Given the description of an element on the screen output the (x, y) to click on. 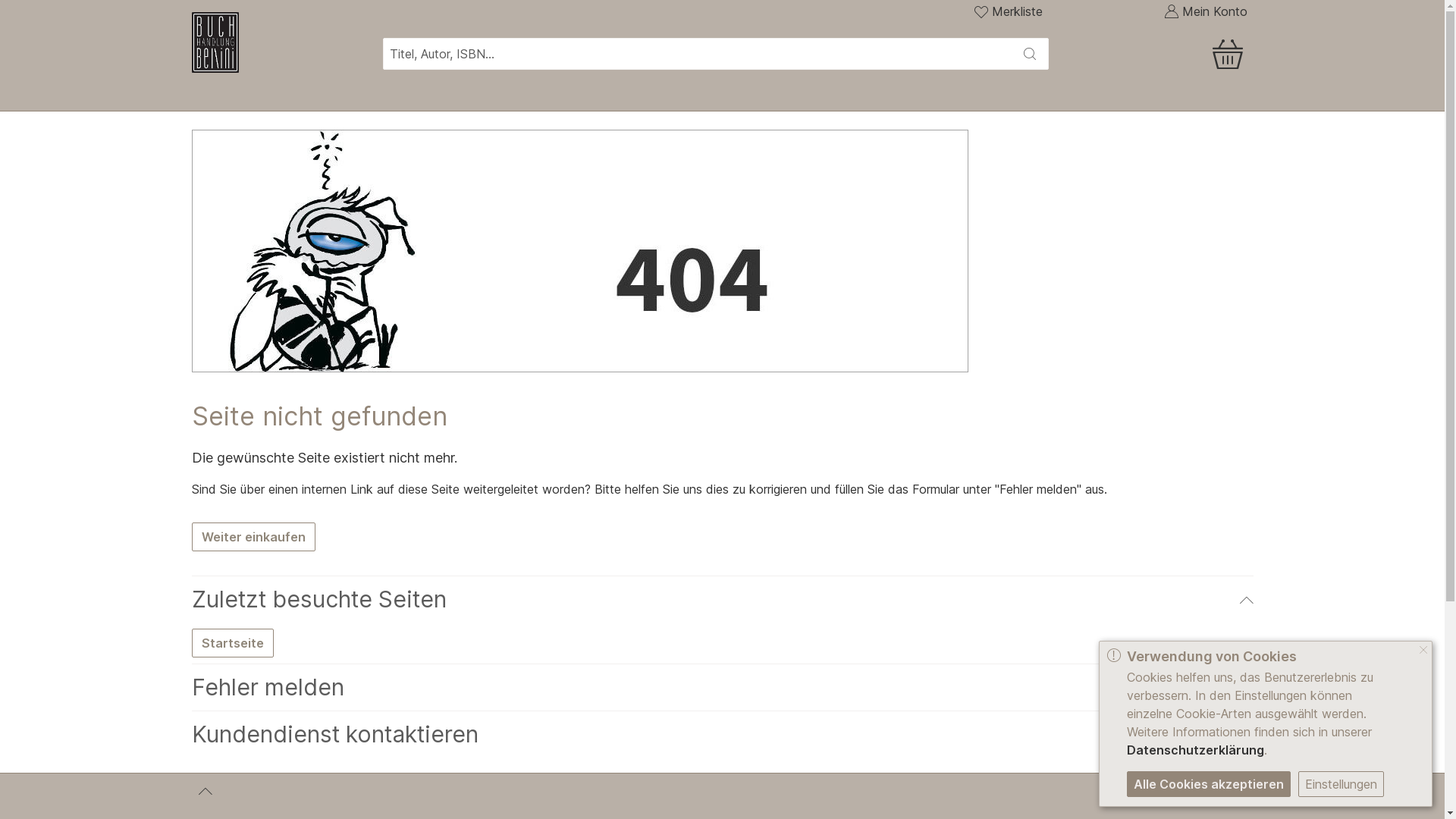
Einstellungen Element type: text (1340, 784)
Fehler melden Element type: text (721, 687)
Zuletzt besuchte Seiten Element type: text (721, 599)
Weiter einkaufen Element type: text (253, 536)
Startseite Element type: text (232, 642)
Merkliste Element type: text (1007, 11)
Zum Warenkorb Element type: hover (1230, 40)
Alle Cookies akzeptieren Element type: text (1208, 784)
Zum Warenkorb Element type: hover (1165, 53)
Schliessen Element type: hover (1422, 649)
Kundendienst kontaktieren Element type: text (721, 734)
Zur Homepage Element type: hover (271, 42)
Suchen Element type: hover (1029, 53)
Mein Konto Element type: text (1204, 11)
